Given the description of an element on the screen output the (x, y) to click on. 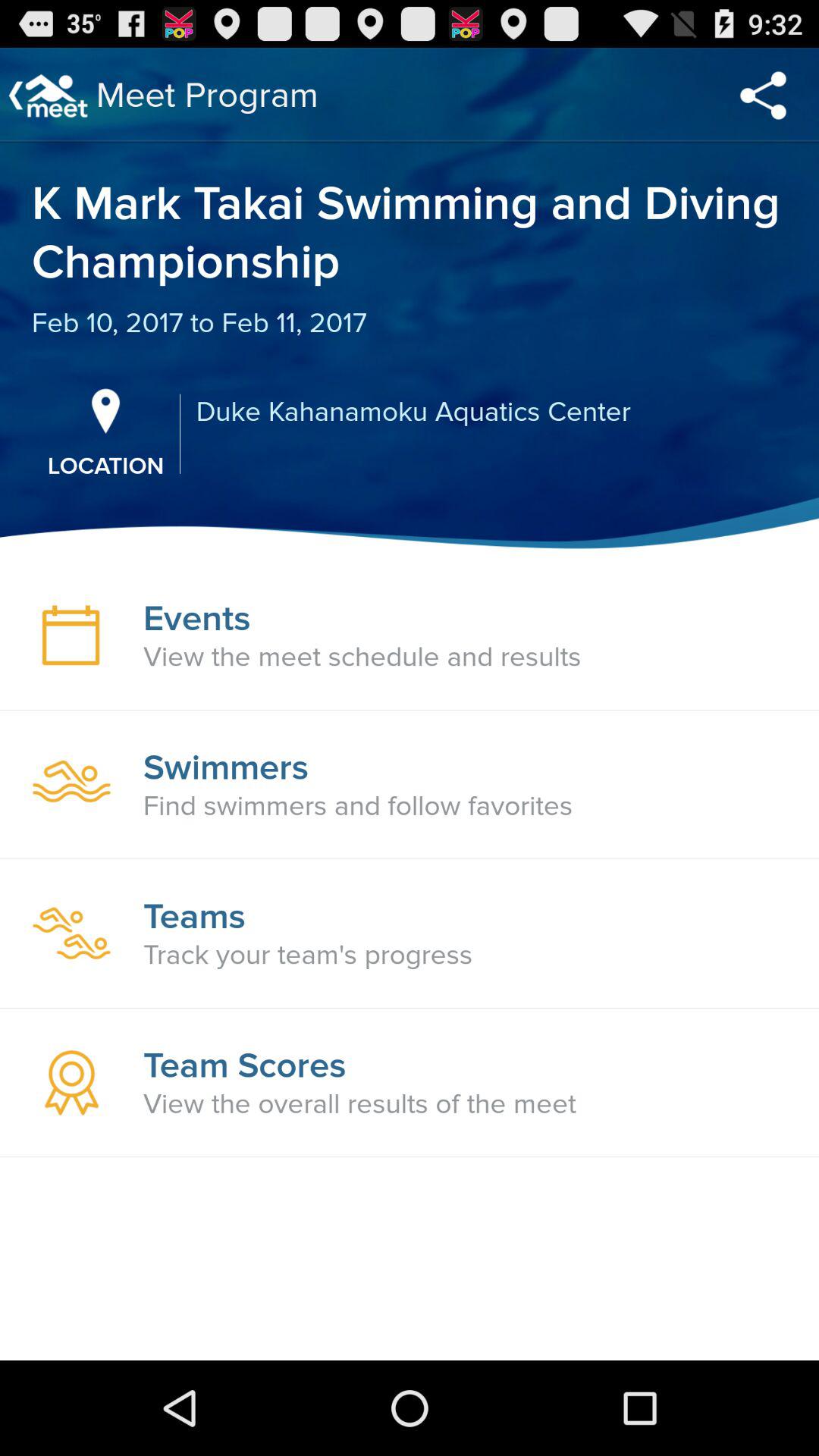
launch icon below swimmers icon (357, 805)
